Given the description of an element on the screen output the (x, y) to click on. 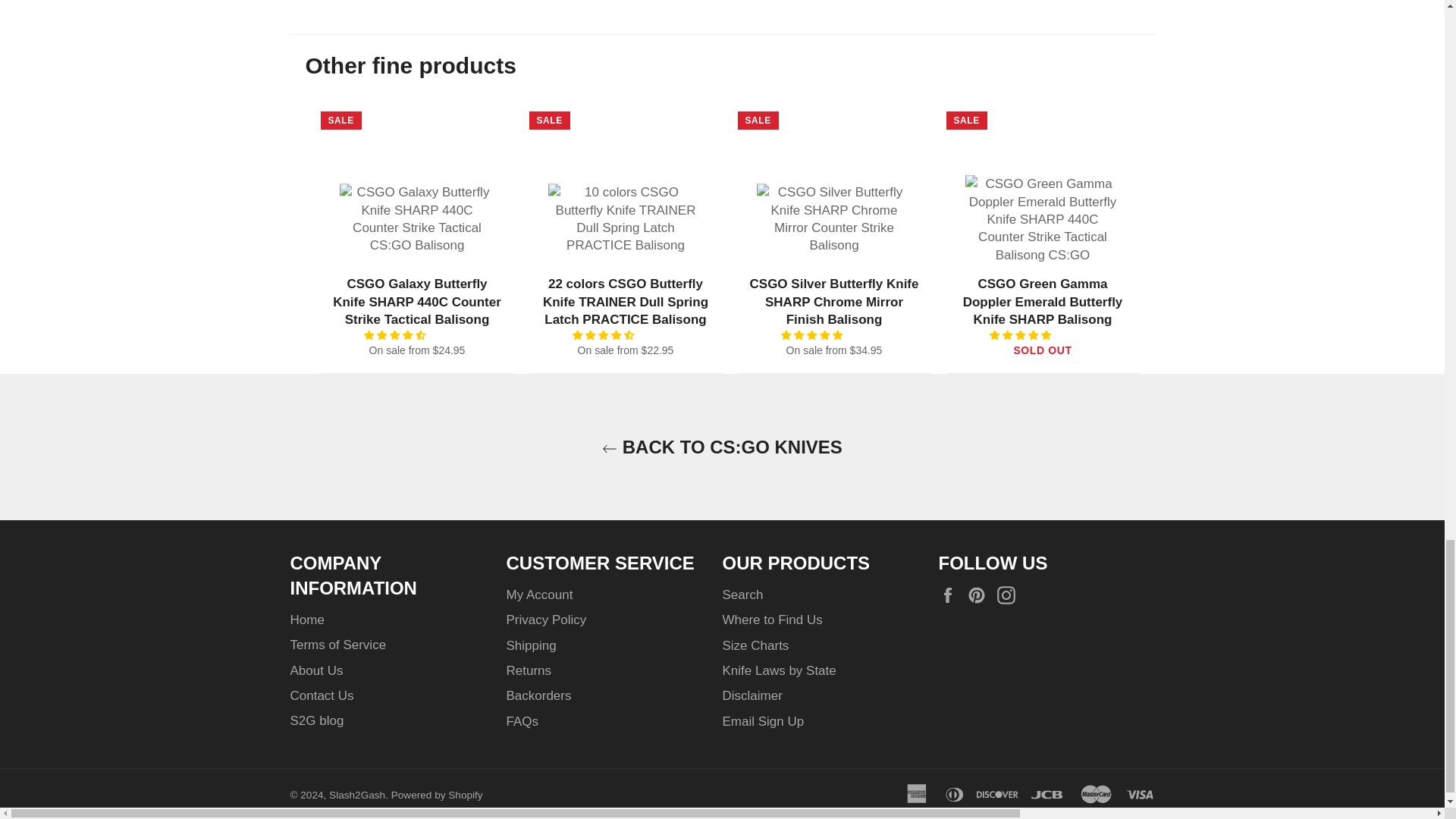
Slash2Gash on Facebook (951, 595)
Slash2Gash on Pinterest (980, 595)
Slash2Gash on Instagram (1010, 595)
